Given the description of an element on the screen output the (x, y) to click on. 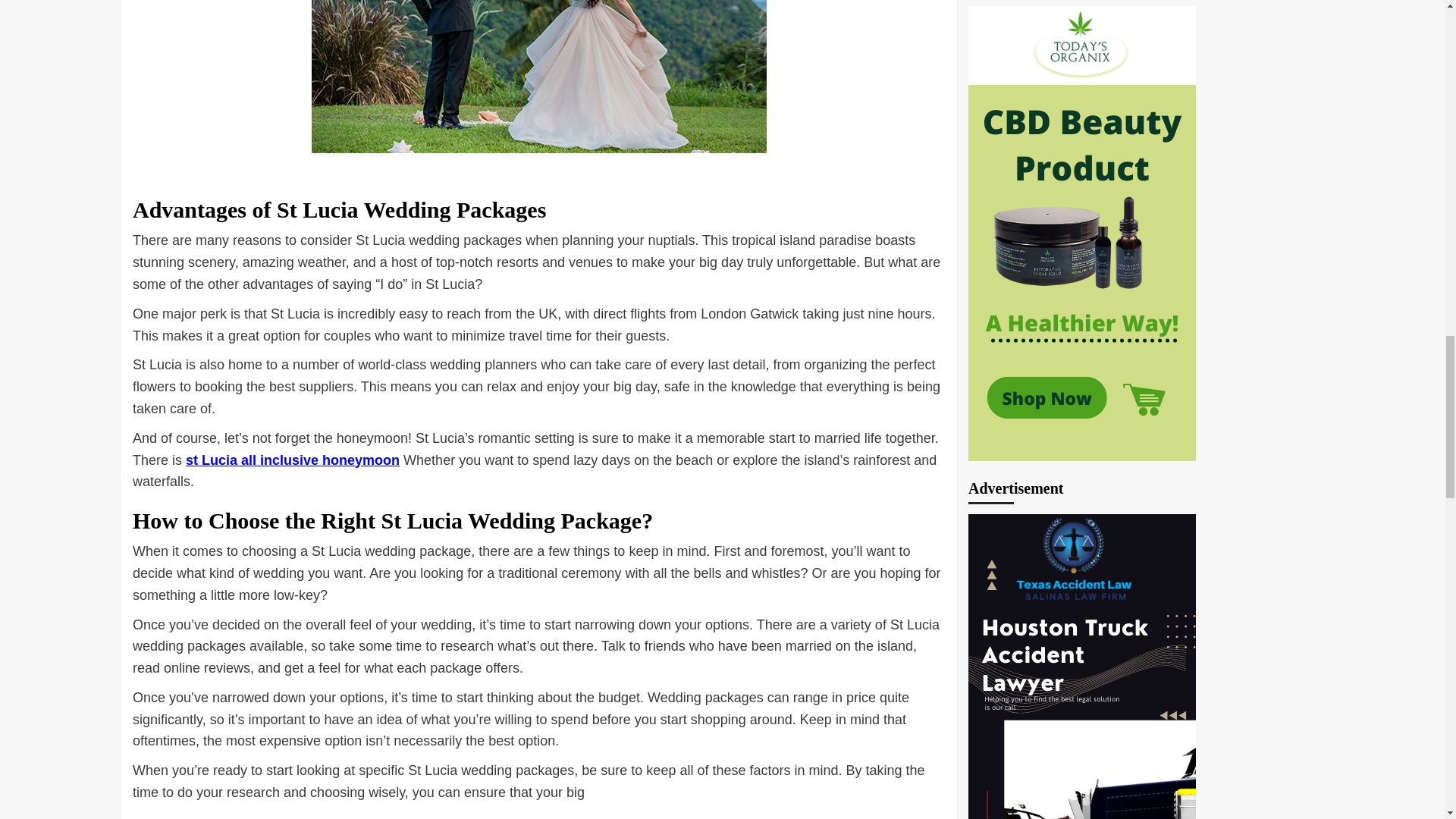
st Lucia all inclusive honeymoon (292, 459)
